Given the description of an element on the screen output the (x, y) to click on. 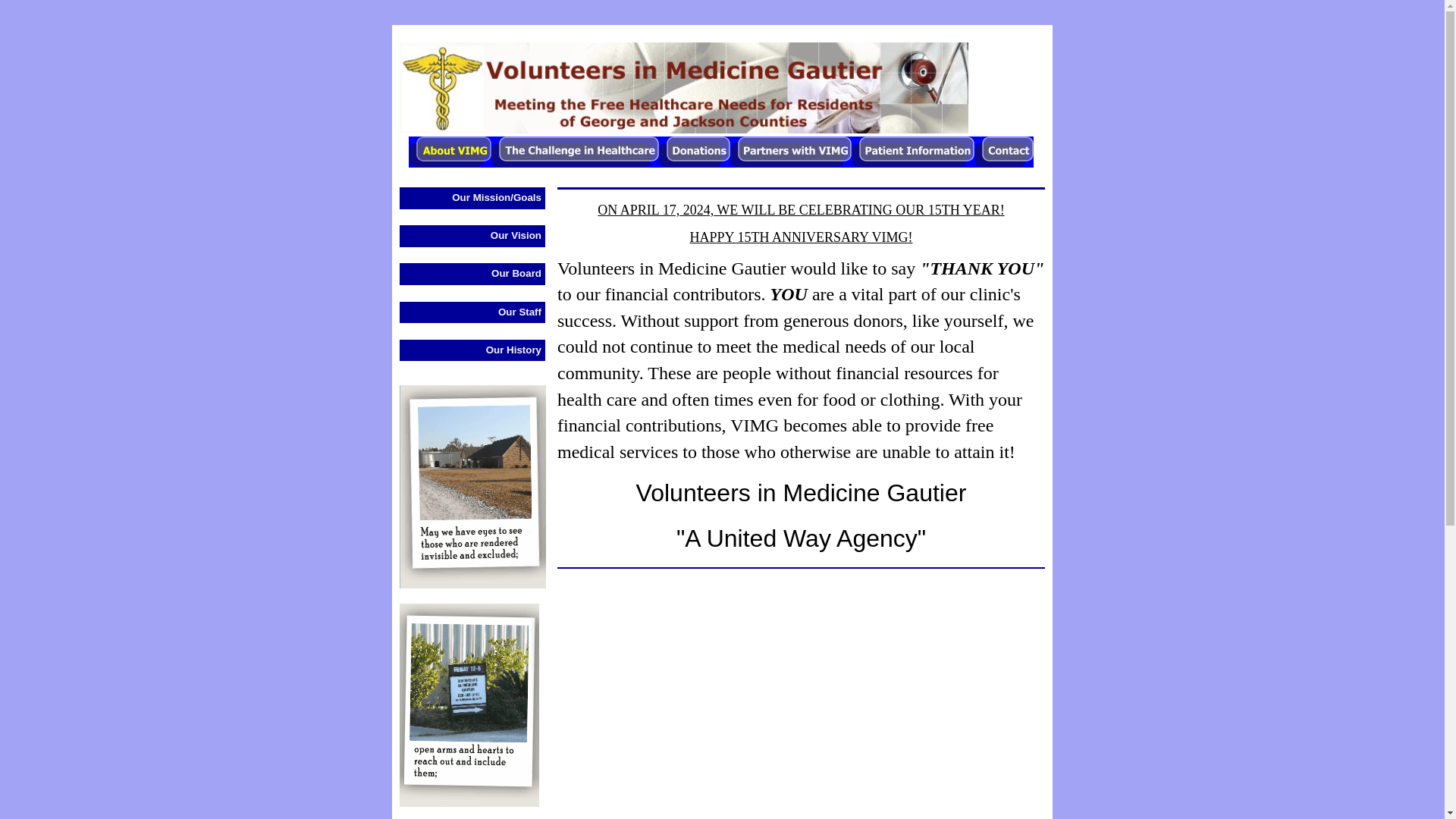
Our Vision (471, 236)
Our Staff (471, 312)
Our History (471, 350)
Our Board (471, 273)
